Given the description of an element on the screen output the (x, y) to click on. 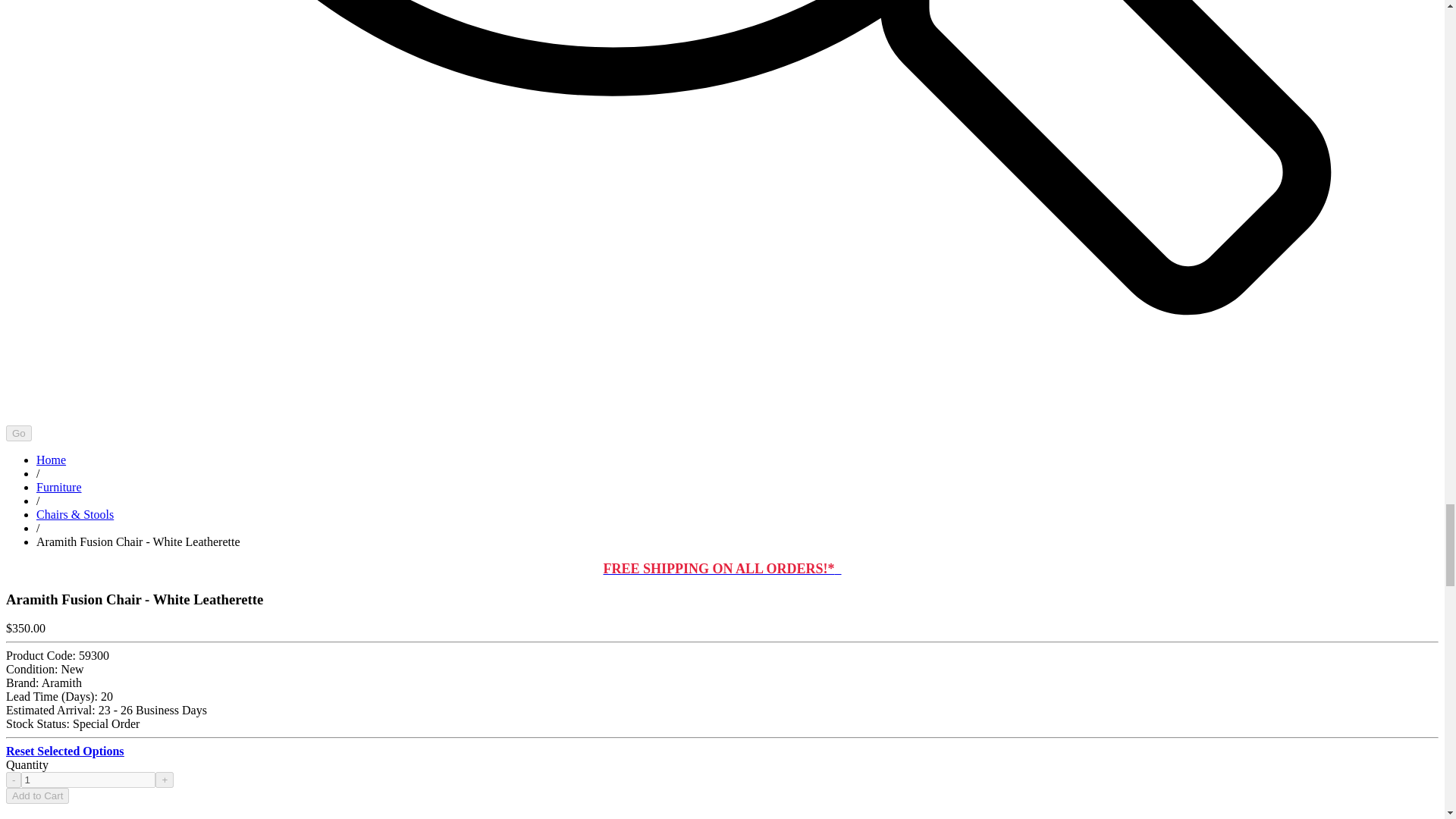
1 (88, 779)
